Given the description of an element on the screen output the (x, y) to click on. 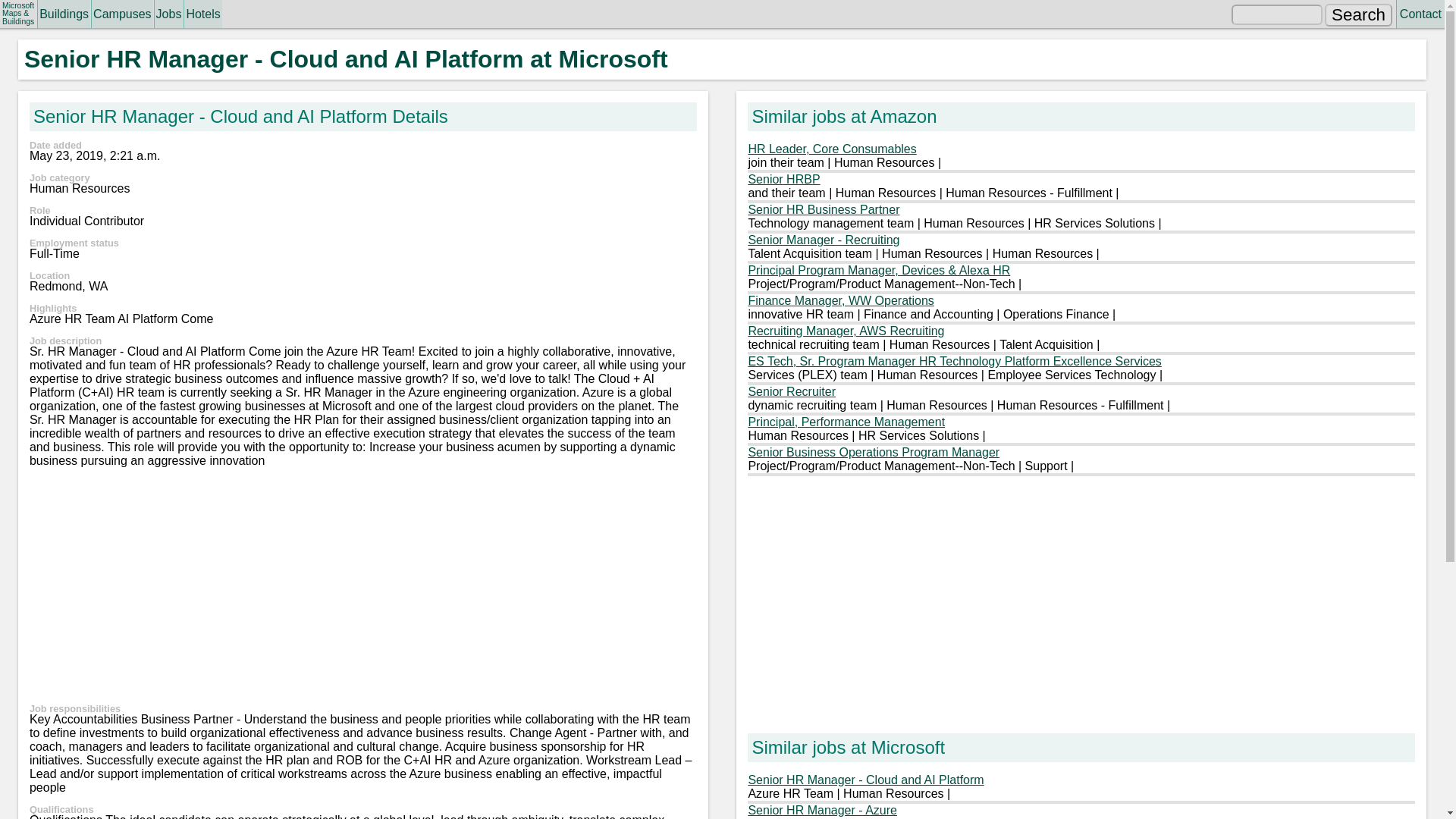
Senior Manager - Recruiting (823, 239)
Senior HR Manager - Cloud and AI Platform (866, 779)
Search (1358, 15)
Search (1358, 15)
Hotels (202, 13)
Buildings (63, 13)
Principal, Performance Management (846, 421)
Senior Recruiter (791, 391)
Recruiting Manager, AWS Recruiting (845, 330)
Jobs (168, 13)
Finance Manager, WW Operations (840, 300)
Campuses (121, 13)
Senior HR Business Partner (823, 209)
